Given the description of an element on the screen output the (x, y) to click on. 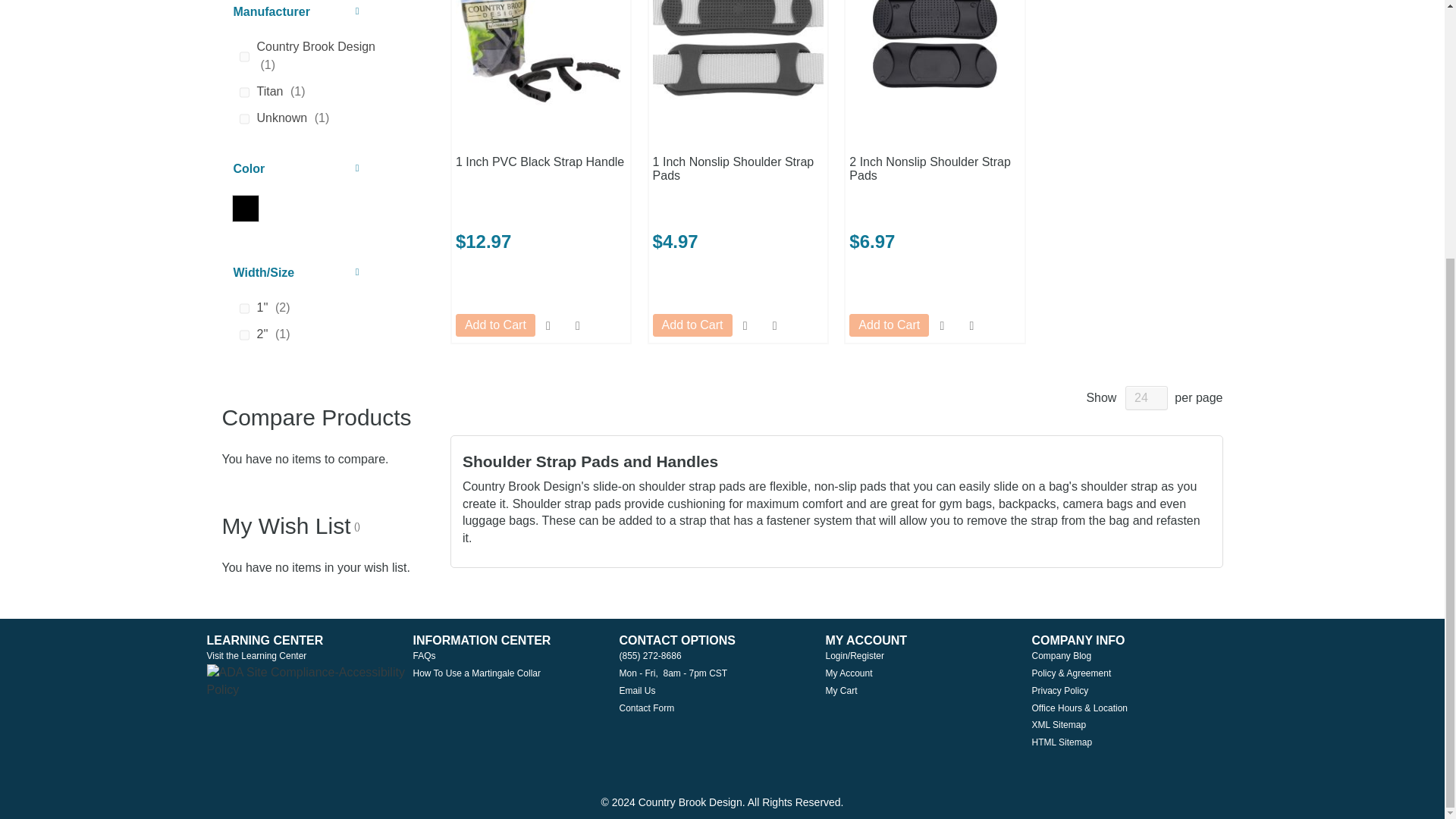
Add to Compare (577, 325)
Add to Wish List (941, 325)
Add to Wish List (548, 325)
Add to Compare (971, 325)
Add to Cart (888, 324)
Add to Compare (774, 325)
Add to Cart (495, 324)
Add to Wish List (745, 325)
Add to Cart (692, 324)
